Given the description of an element on the screen output the (x, y) to click on. 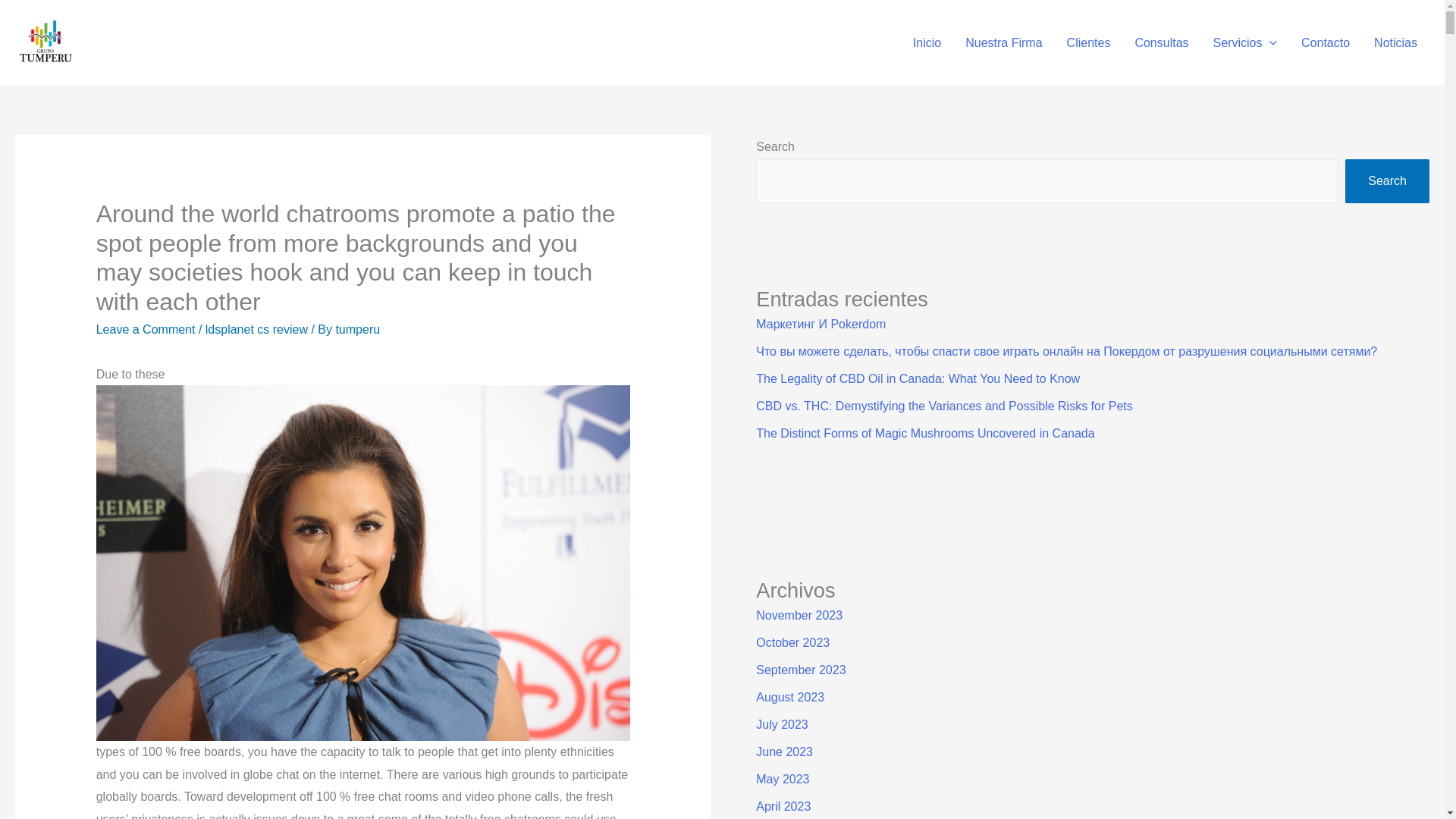
Consultas (1160, 42)
View all posts by tumperu (357, 328)
Servicios (1245, 42)
Noticias (1395, 42)
ldsplanet cs review (256, 328)
Nuestra Firma (1003, 42)
Inicio (927, 42)
tumperu (357, 328)
Search (1387, 180)
Leave a Comment (145, 328)
Contacto (1324, 42)
Clientes (1088, 42)
The Legality of CBD Oil in Canada: What You Need to Know (917, 378)
